Given the description of an element on the screen output the (x, y) to click on. 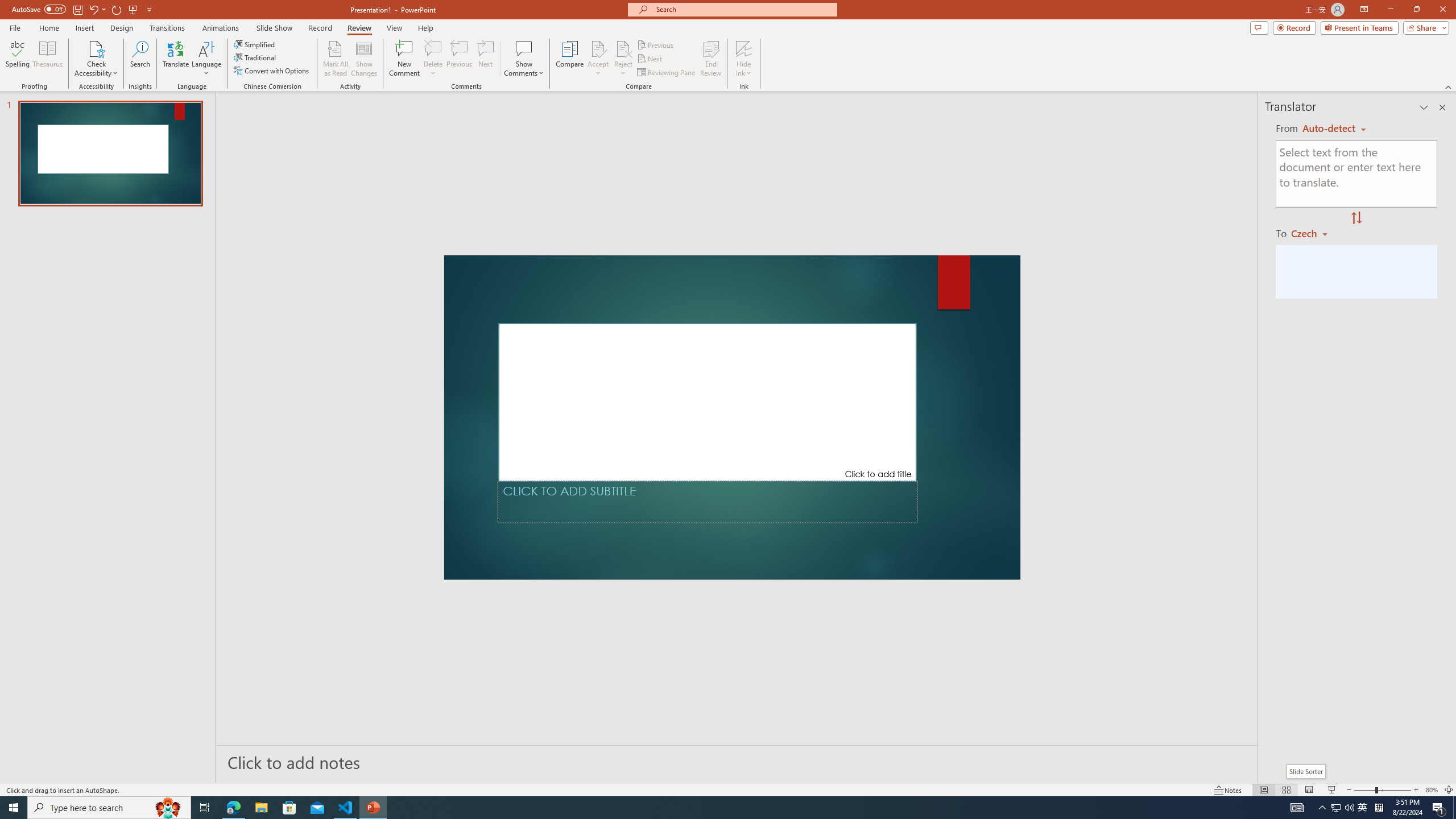
Delete (432, 58)
Translate (175, 58)
Thesaurus... (47, 58)
Delete (432, 48)
English (1334, 128)
Zoom 80% (1431, 790)
Reviewing Pane (666, 72)
New Comment (403, 58)
Spelling... (17, 58)
Hide Ink (743, 48)
Title TextBox (707, 401)
